Given the description of an element on the screen output the (x, y) to click on. 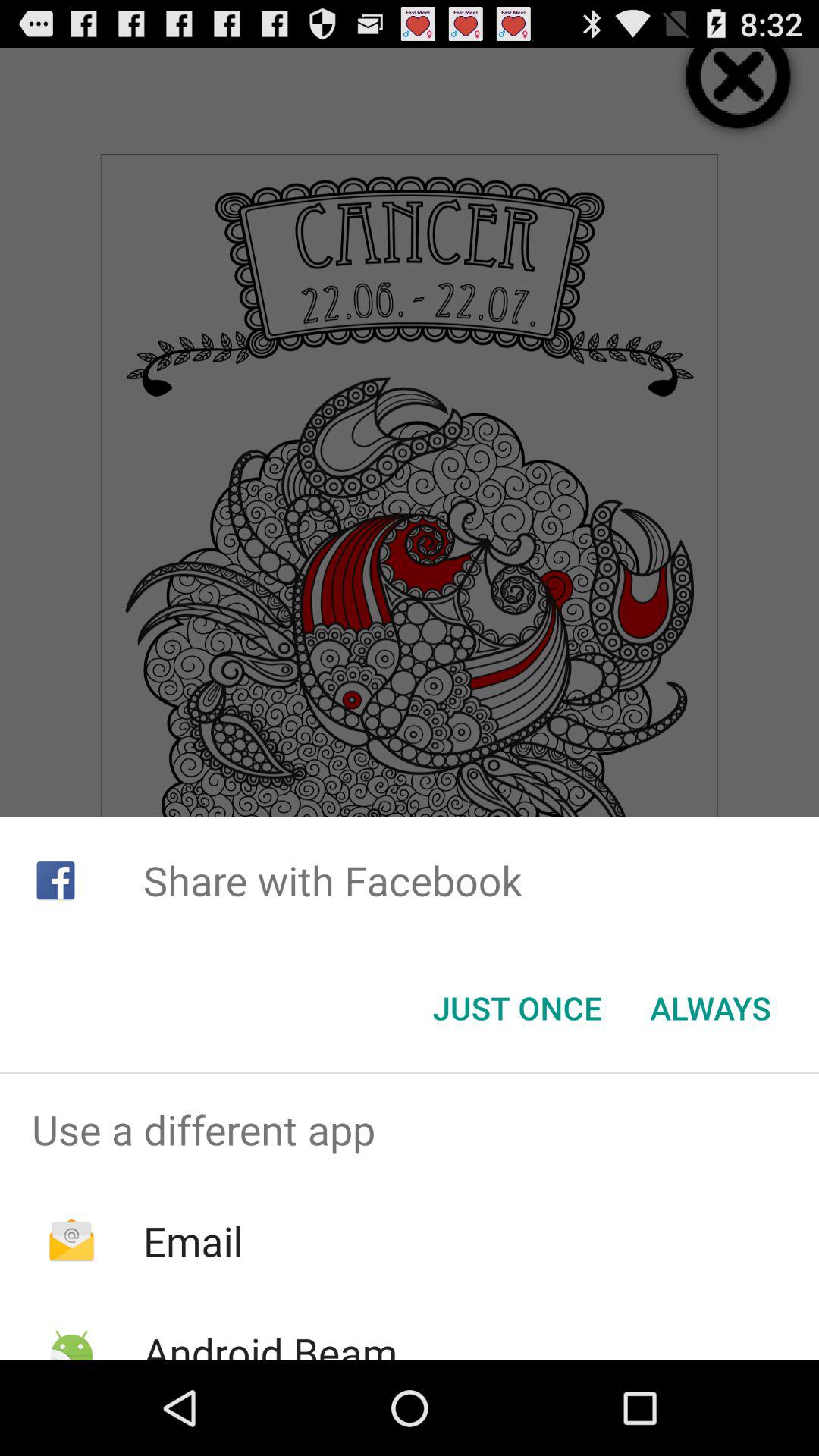
choose item above android beam item (192, 1240)
